Given the description of an element on the screen output the (x, y) to click on. 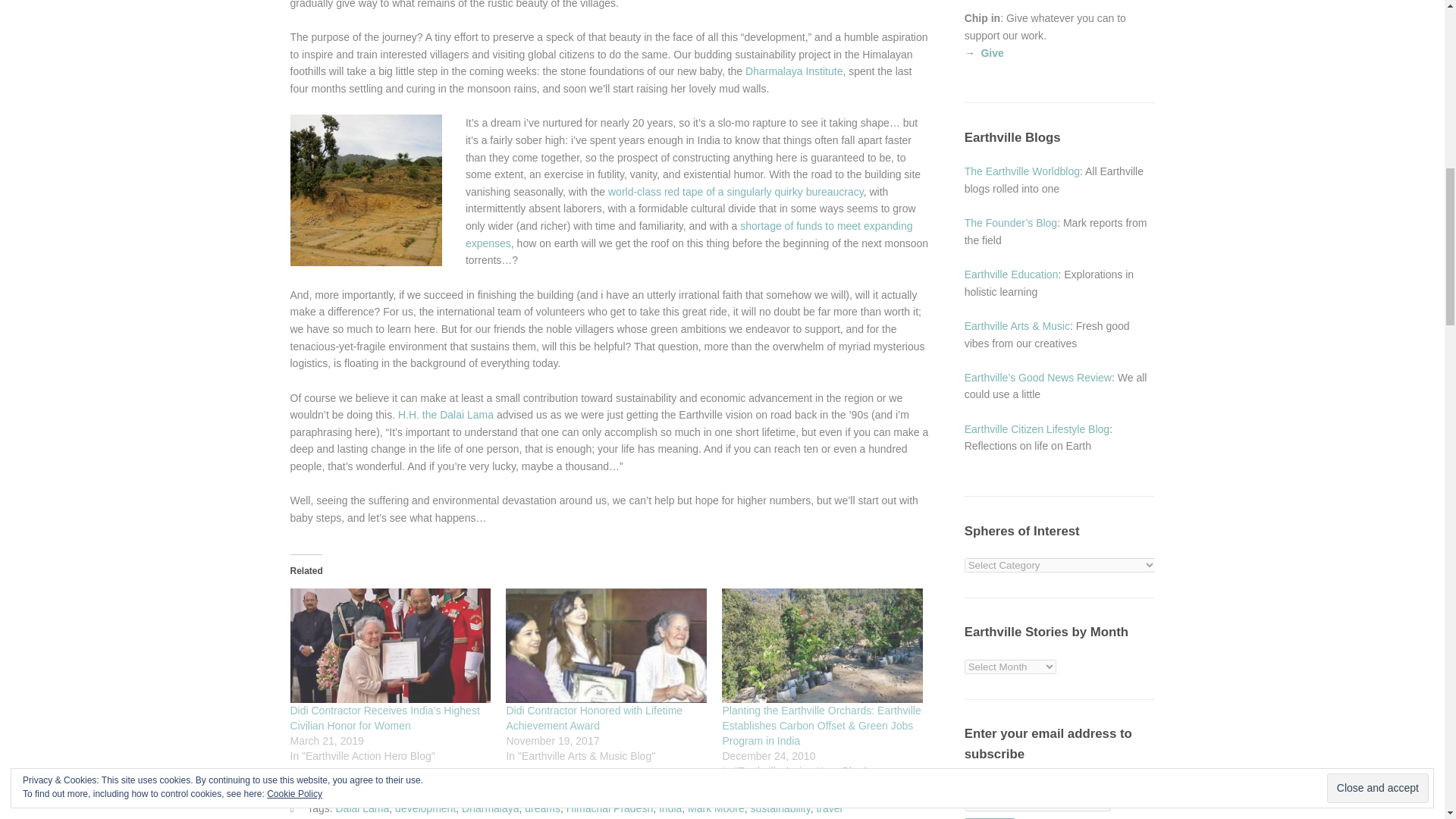
Submit (989, 818)
Didi Contractor Honored with Lifetime Achievement Award (605, 645)
Didi Contractor Honored with Lifetime Achievement Award (593, 718)
E-mail (1037, 796)
